Given the description of an element on the screen output the (x, y) to click on. 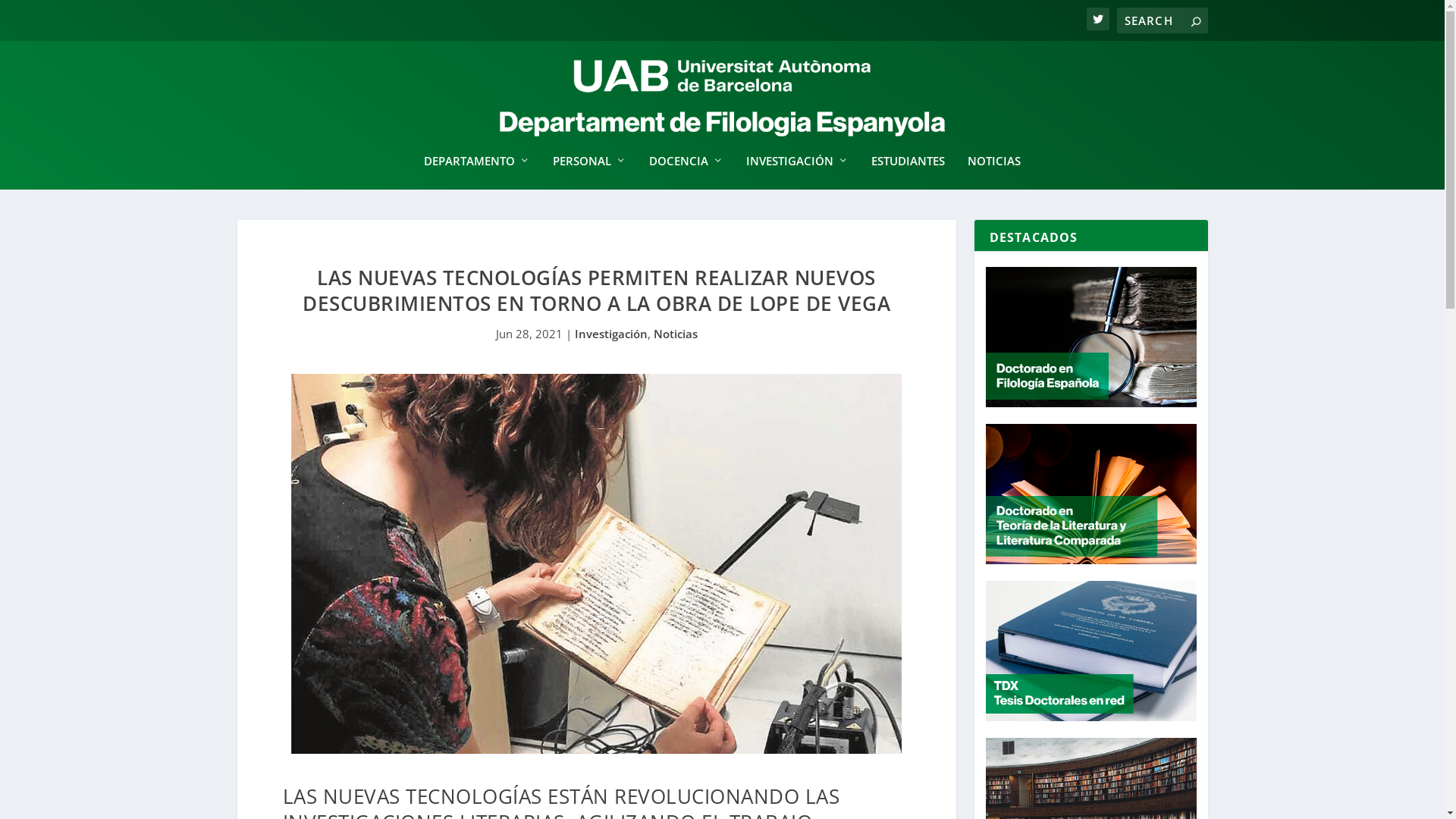
DOCENCIA Element type: text (686, 171)
Noticias Element type: text (675, 333)
PERSONAL Element type: text (589, 171)
Search for: Element type: hover (1161, 20)
ESTUDIANTES Element type: text (907, 171)
TDX Tesis Doctorales en red Element type: hover (1090, 650)
NOTICIAS Element type: text (993, 171)
DEPARTAMENTO Element type: text (476, 171)
